Given the description of an element on the screen output the (x, y) to click on. 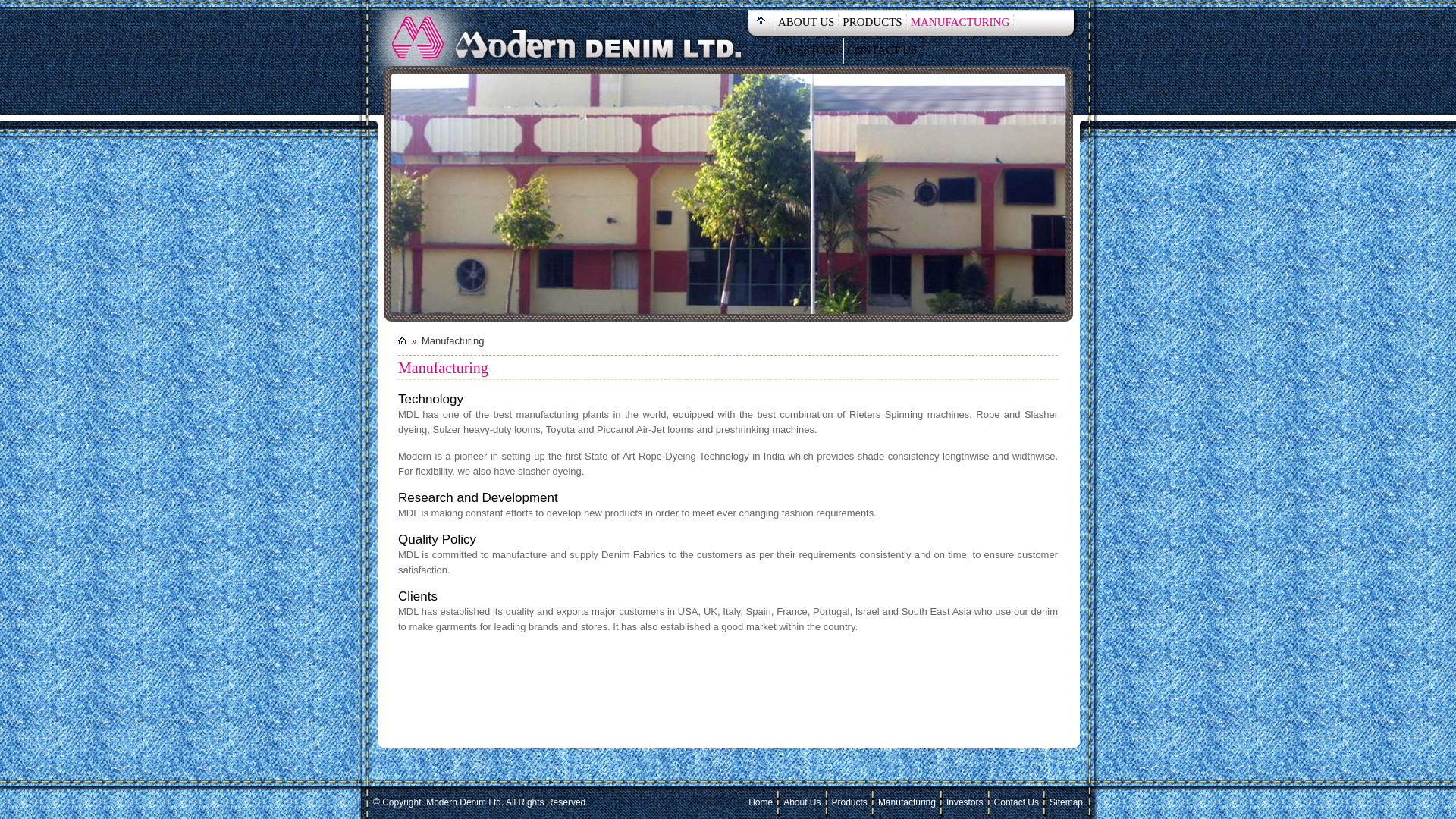
PRODUCTS (872, 22)
CONTACT US (882, 50)
Sitemap (1066, 801)
About Us (802, 801)
Investors (965, 801)
Mordern Denim Ltd. (560, 32)
Products (849, 801)
Contact Us (1016, 801)
Home (760, 801)
Manufacturing (906, 801)
ABOUT US (806, 22)
MANUFACTURING (960, 22)
INVESTORS (808, 50)
